Given the description of an element on the screen output the (x, y) to click on. 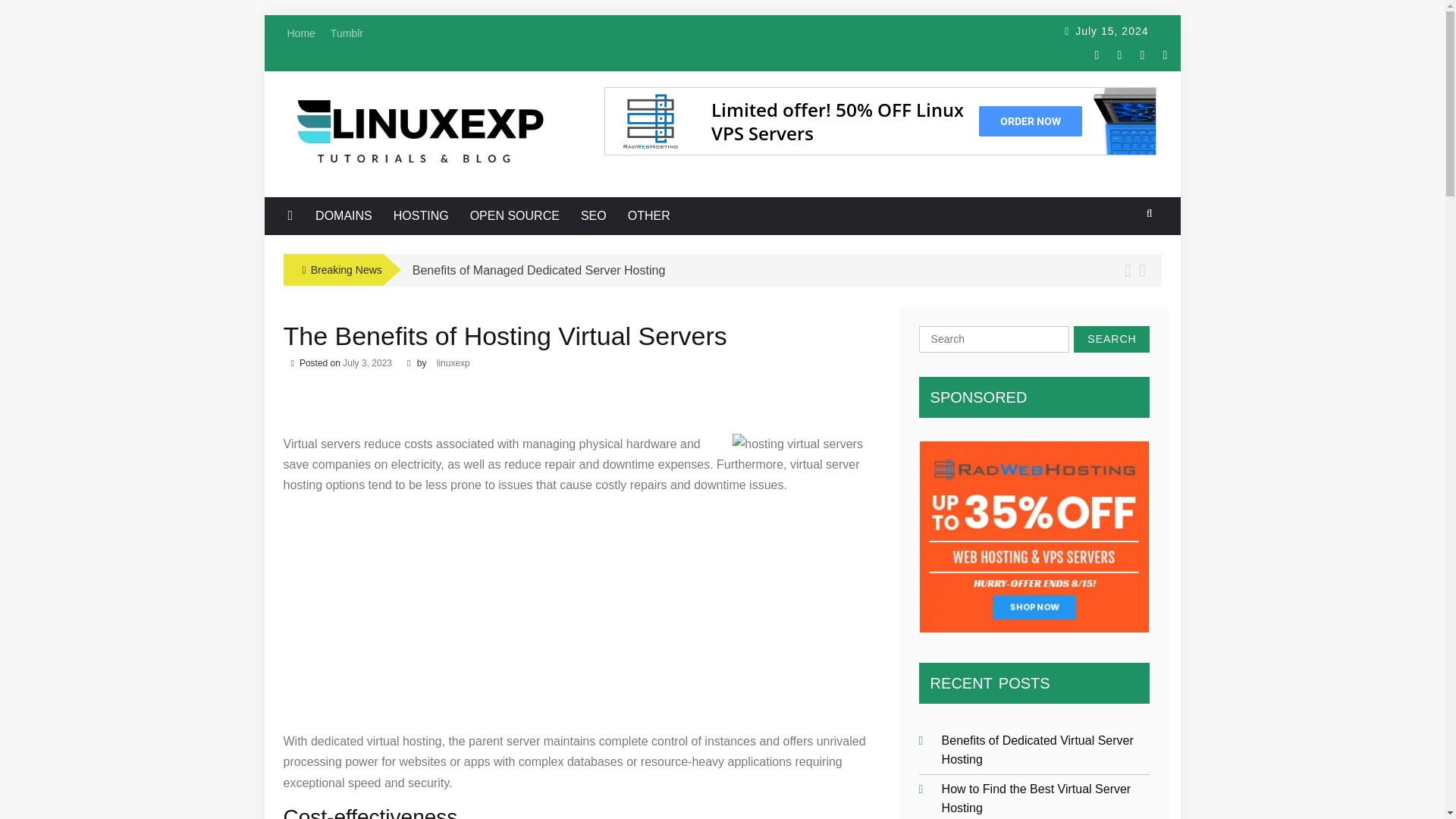
Open Source Articles (514, 216)
Advertisement (576, 612)
Benefits of Managed Dedicated Server Hosting (538, 269)
Tumblr (347, 33)
Other Articles (648, 216)
July 3, 2023 (366, 362)
DOMAINS (344, 216)
OTHER (648, 216)
linuxexp (453, 362)
Search (1112, 338)
Advertisement (576, 402)
Home (300, 33)
OPEN SOURCE (514, 216)
SEO (593, 216)
